Given the description of an element on the screen output the (x, y) to click on. 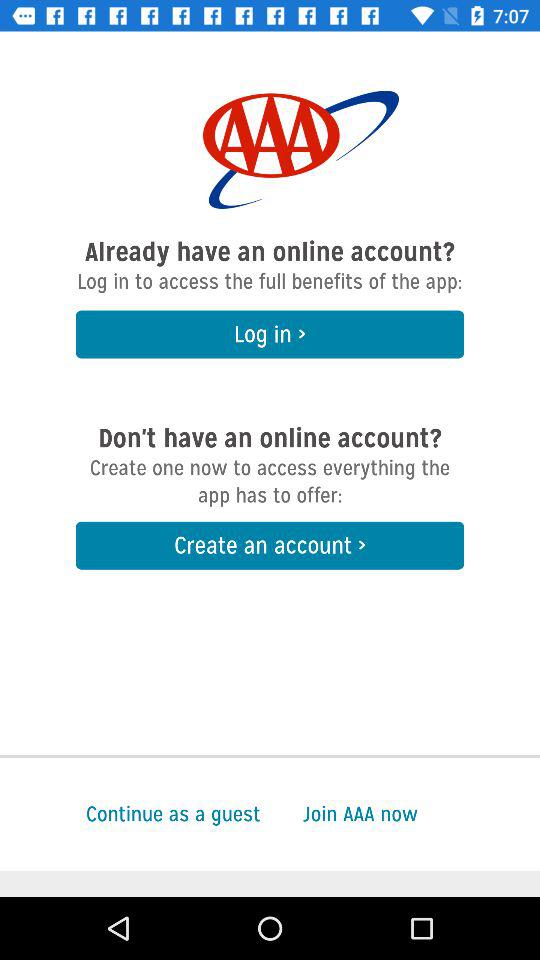
select icon at the bottom left corner (130, 814)
